Given the description of an element on the screen output the (x, y) to click on. 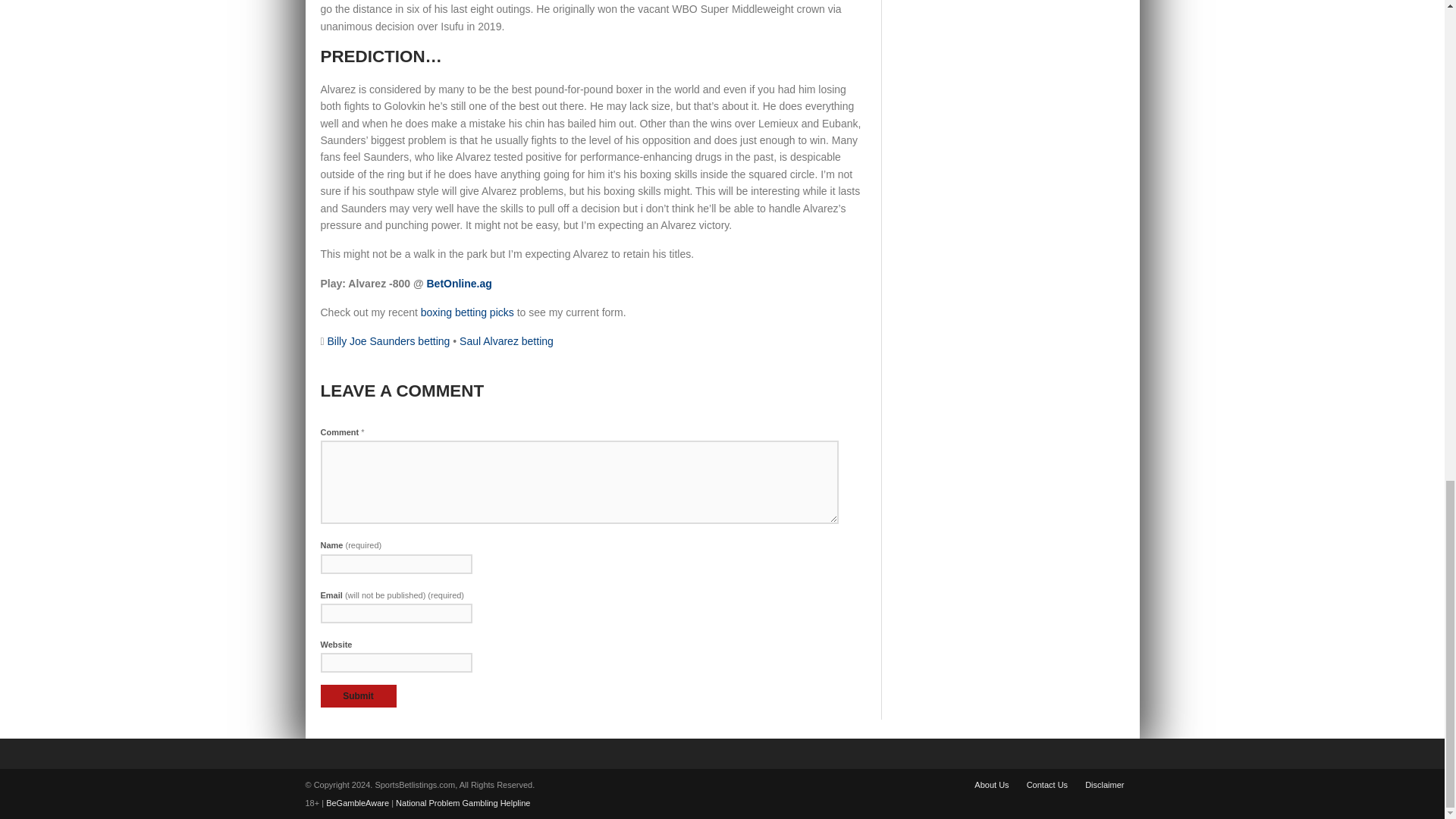
Saul Alvarez betting (506, 340)
boxing betting picks (466, 312)
Submit (358, 695)
BetOnline.ag (459, 283)
Submit (358, 695)
Billy Joe Saunders betting (388, 340)
